Given the description of an element on the screen output the (x, y) to click on. 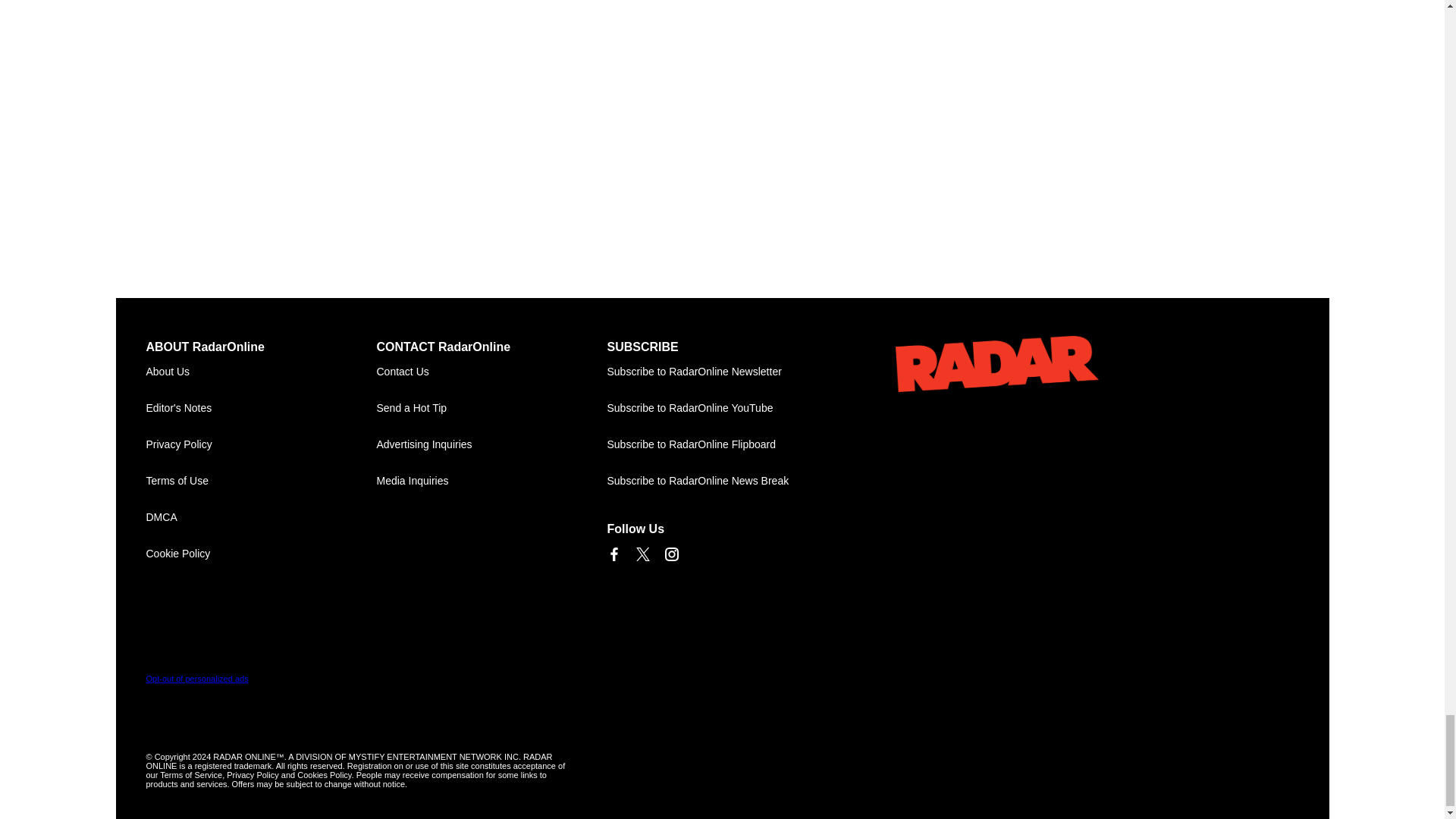
About Us (260, 371)
Editor's Notes (260, 408)
Privacy Policy (260, 444)
Contact Us (491, 371)
Editor's Notes (260, 408)
DMCA (260, 517)
Cookie Policy (260, 554)
Link to X (641, 554)
Terms of Use (260, 481)
Advertising Inquiries (491, 444)
Privacy Policy (260, 444)
About Us (260, 371)
Subscribe (722, 371)
Media Inquiries (491, 481)
Link to Facebook (613, 554)
